Given the description of an element on the screen output the (x, y) to click on. 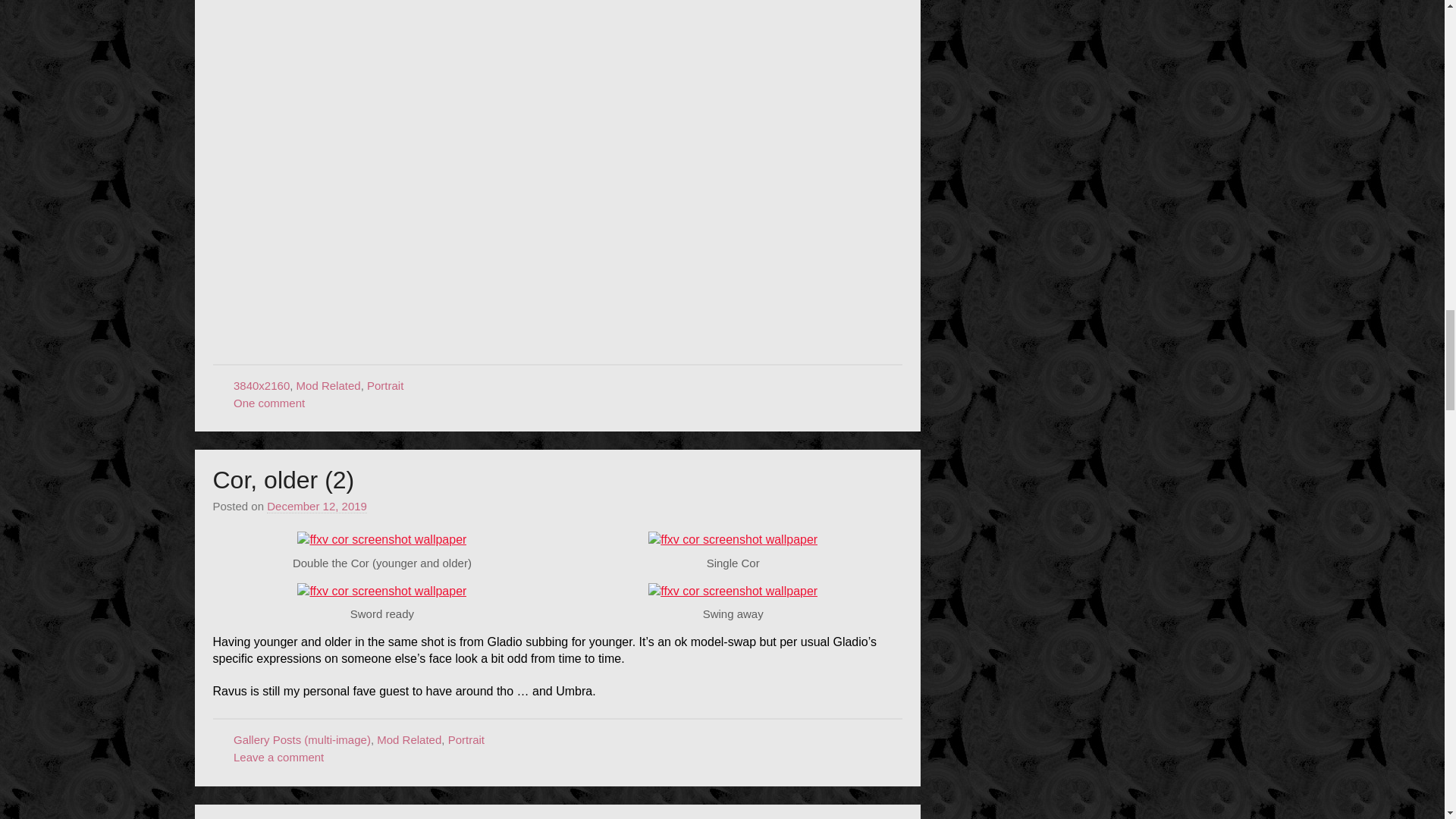
Mod Related (329, 385)
Portrait (384, 385)
3840x2160 (260, 385)
